Given the description of an element on the screen output the (x, y) to click on. 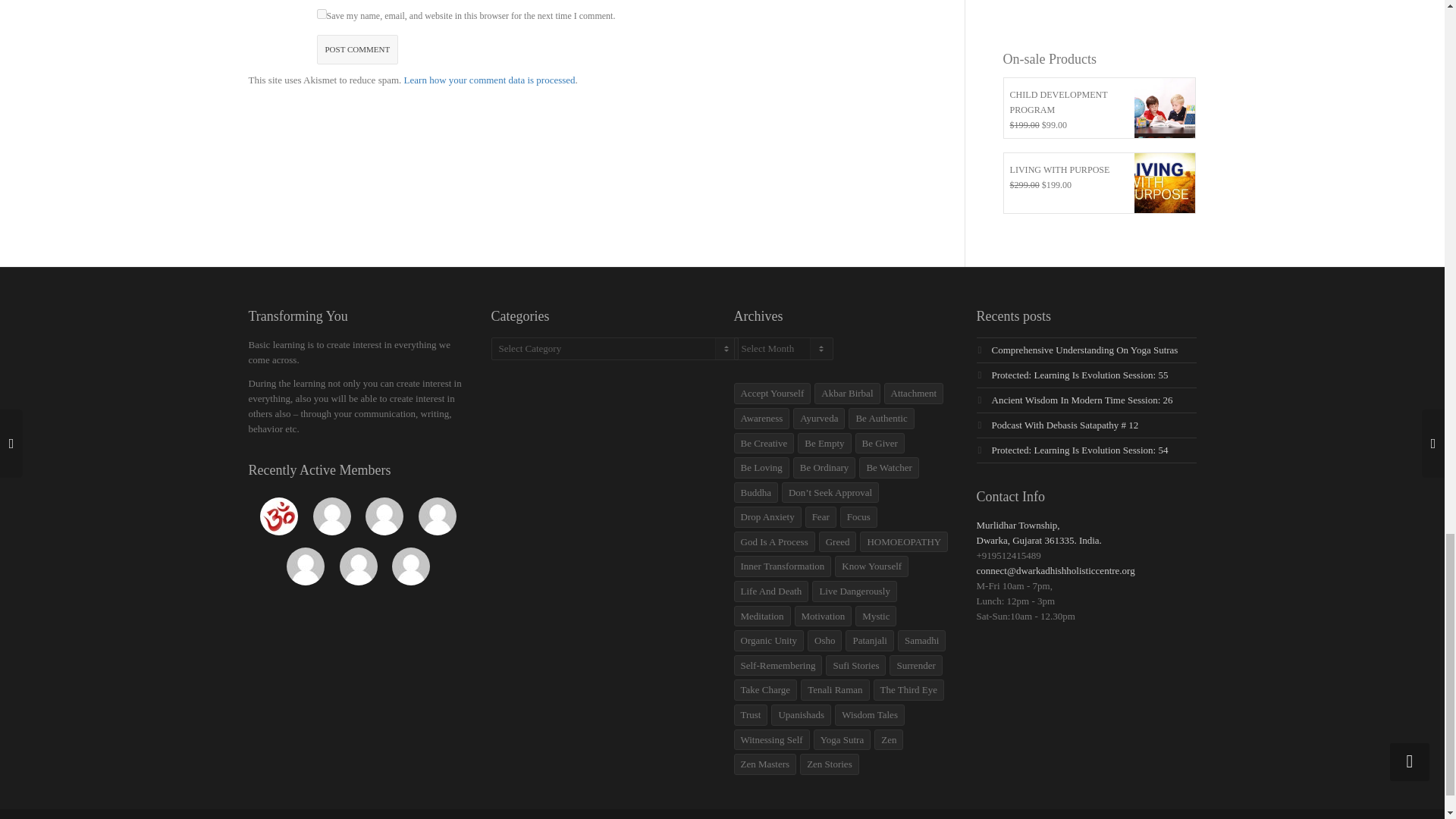
yes (321, 13)
Post comment (357, 49)
